Given the description of an element on the screen output the (x, y) to click on. 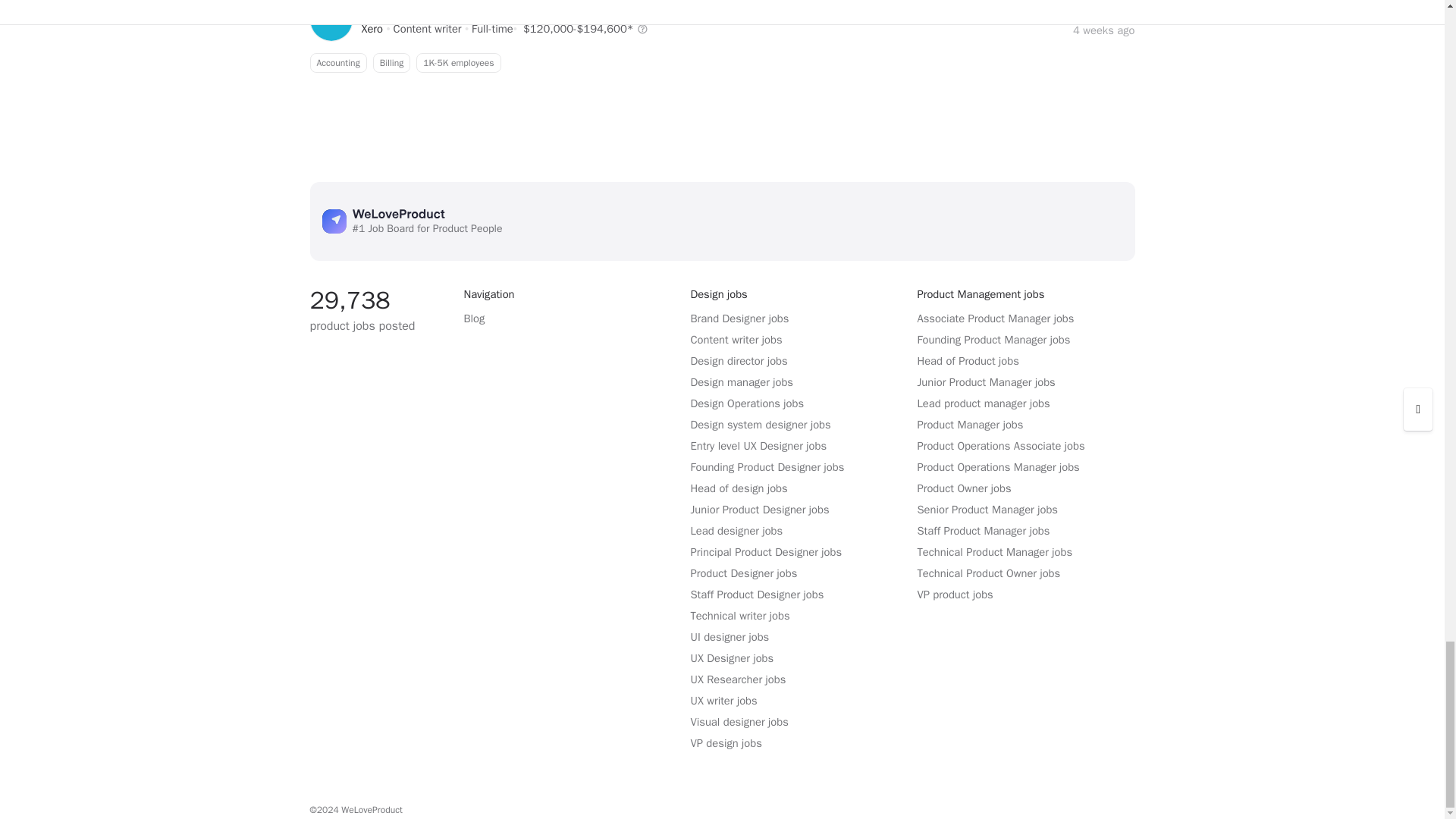
Content writer jobs at Xero (371, 29)
Content writer jobs (427, 29)
